Given the description of an element on the screen output the (x, y) to click on. 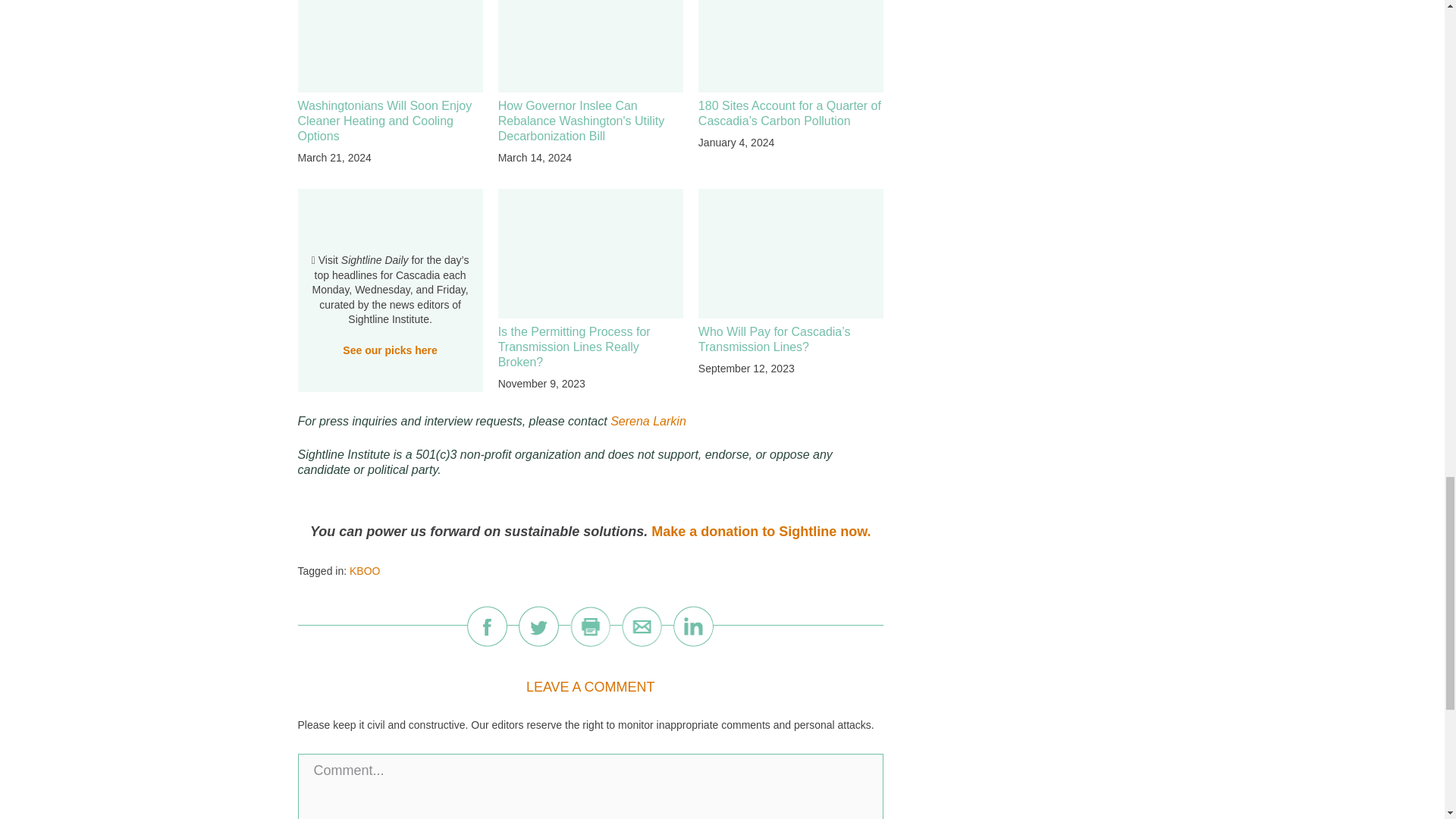
Share This Post by Email (641, 626)
Share This Post on LinkedIN (692, 626)
